Given the description of an element on the screen output the (x, y) to click on. 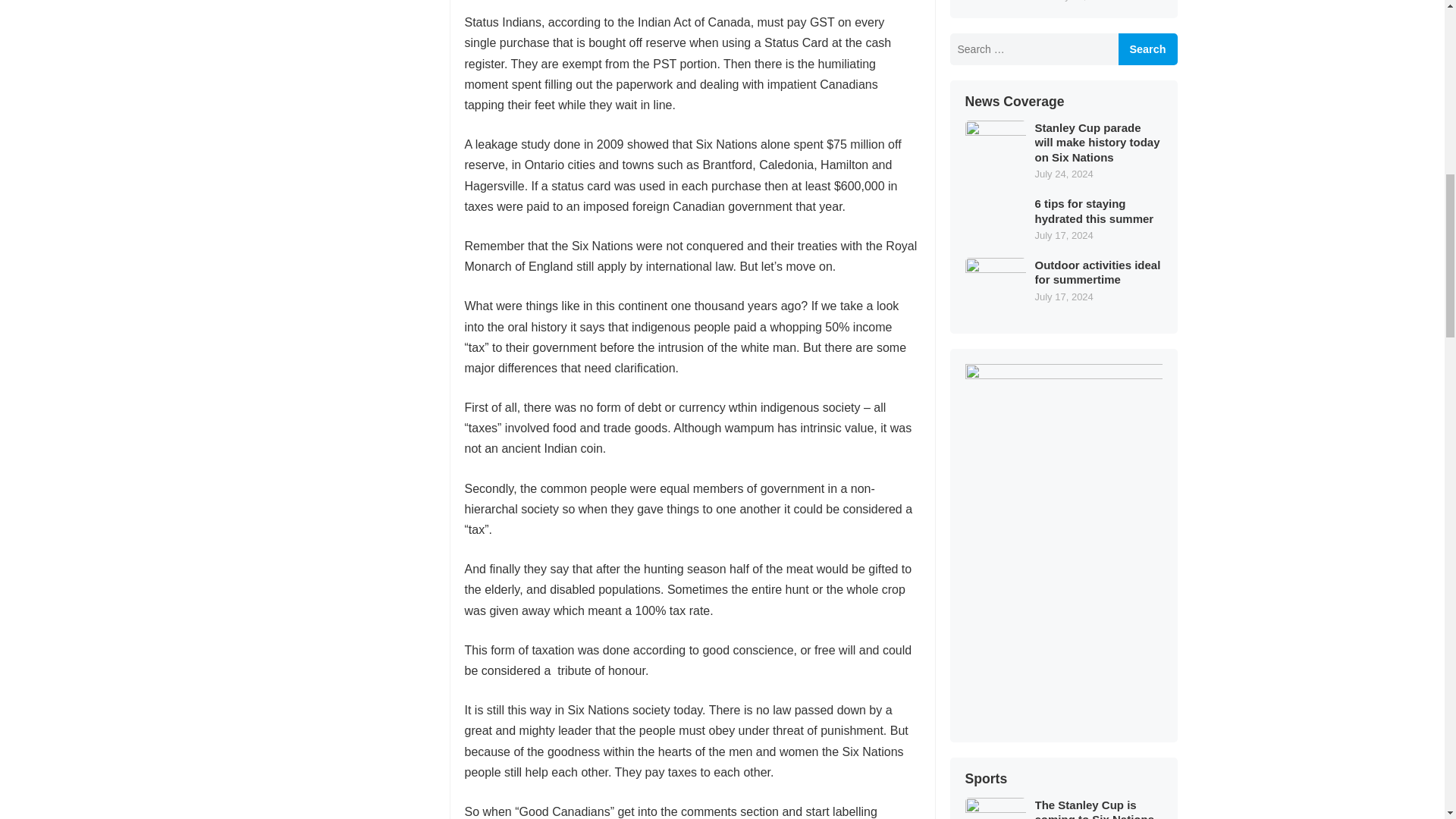
Search (1147, 49)
Search (1147, 49)
